Given the description of an element on the screen output the (x, y) to click on. 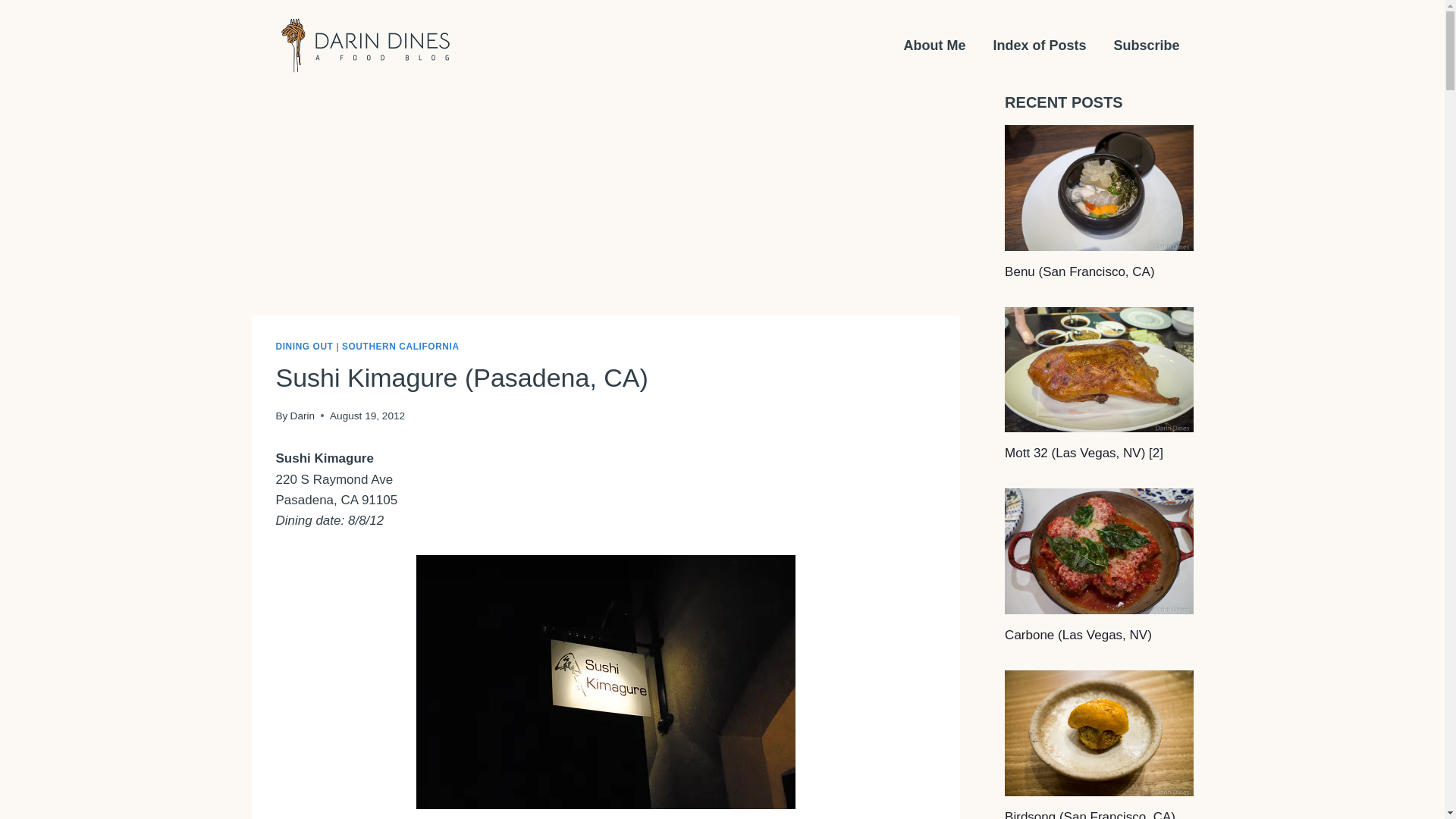
DINING OUT (304, 346)
SOUTHERN CALIFORNIA (401, 346)
Index of Posts (1038, 45)
Subscribe (1145, 45)
About Me (933, 45)
Darin (301, 415)
